Given the description of an element on the screen output the (x, y) to click on. 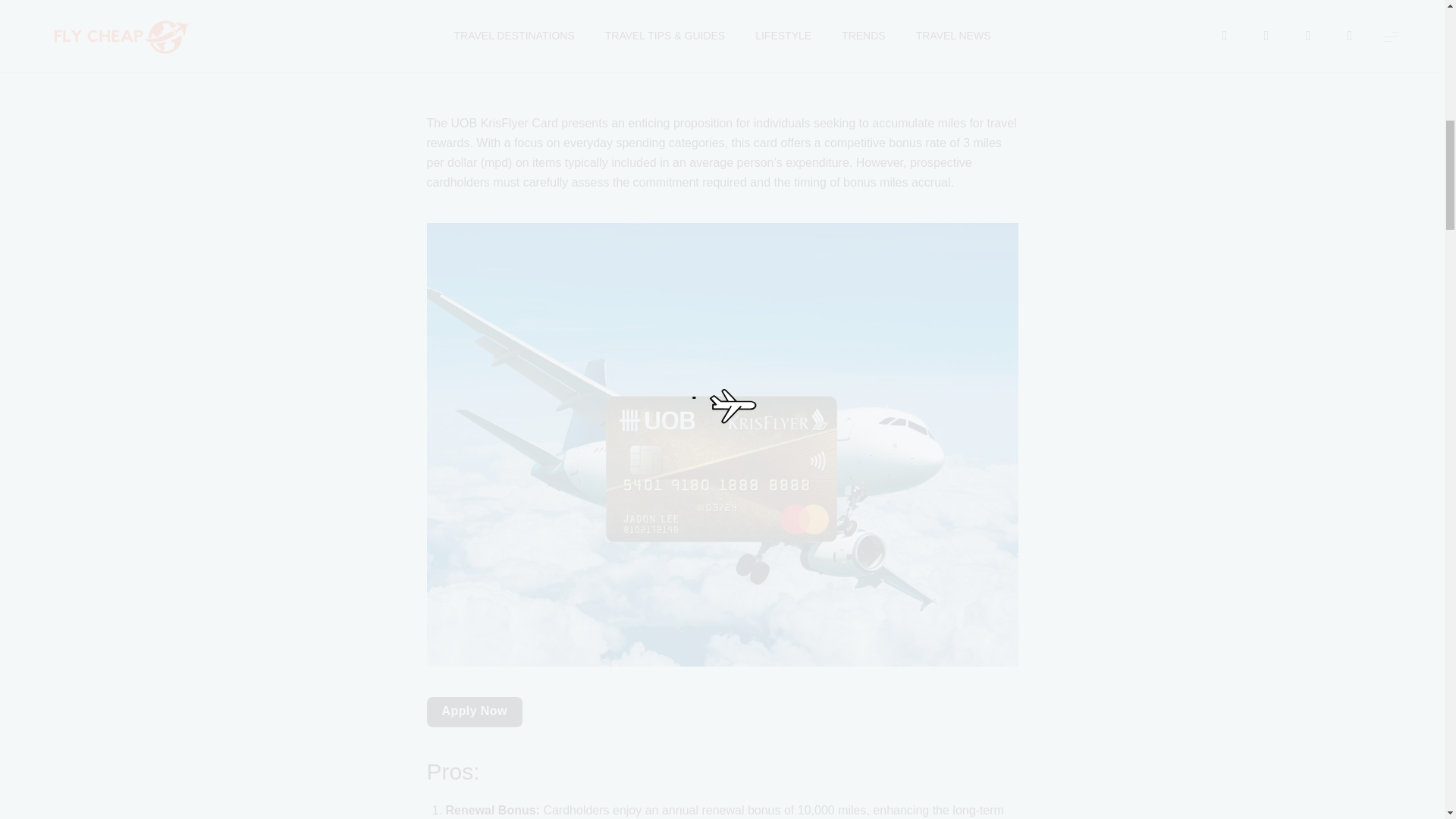
Travel Credit Cards (619, 51)
